Given the description of an element on the screen output the (x, y) to click on. 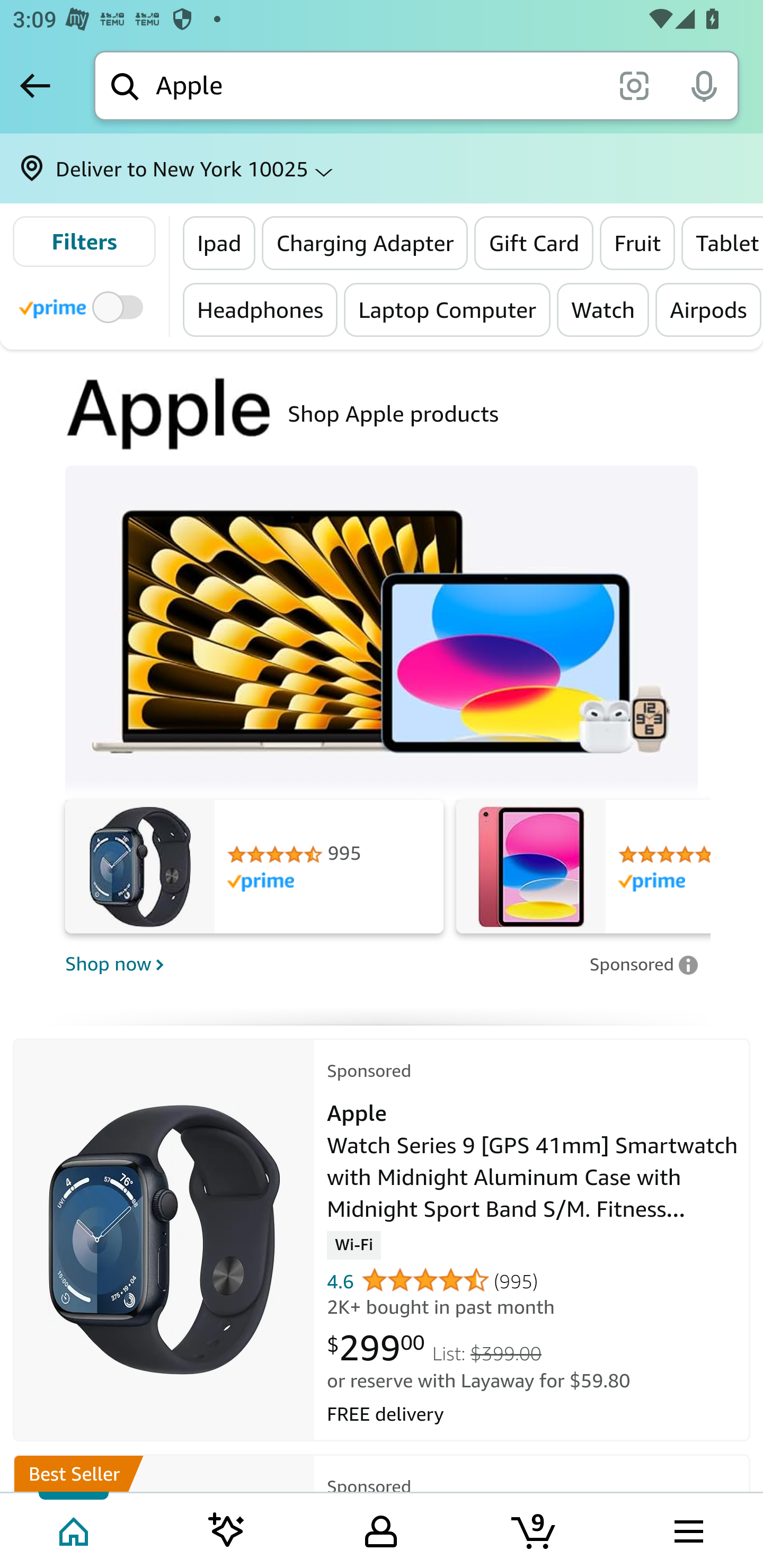
Back (35, 85)
scan it (633, 85)
Deliver to New York 10025 ⌵ (381, 168)
Filters (83, 241)
Ipad (219, 242)
Charging Adapter (364, 242)
Gift Card (533, 242)
Fruit (636, 242)
Tablet Computer (721, 242)
Toggle to filter by Prime products Prime Eligible (83, 306)
Headphones (260, 309)
Laptop Computer (447, 309)
Watch (603, 309)
Airpods (707, 309)
Sponsored ad from now. "Shop Apple products." (381, 413)
Shop now Shop  now  (321, 963)
